Given the description of an element on the screen output the (x, y) to click on. 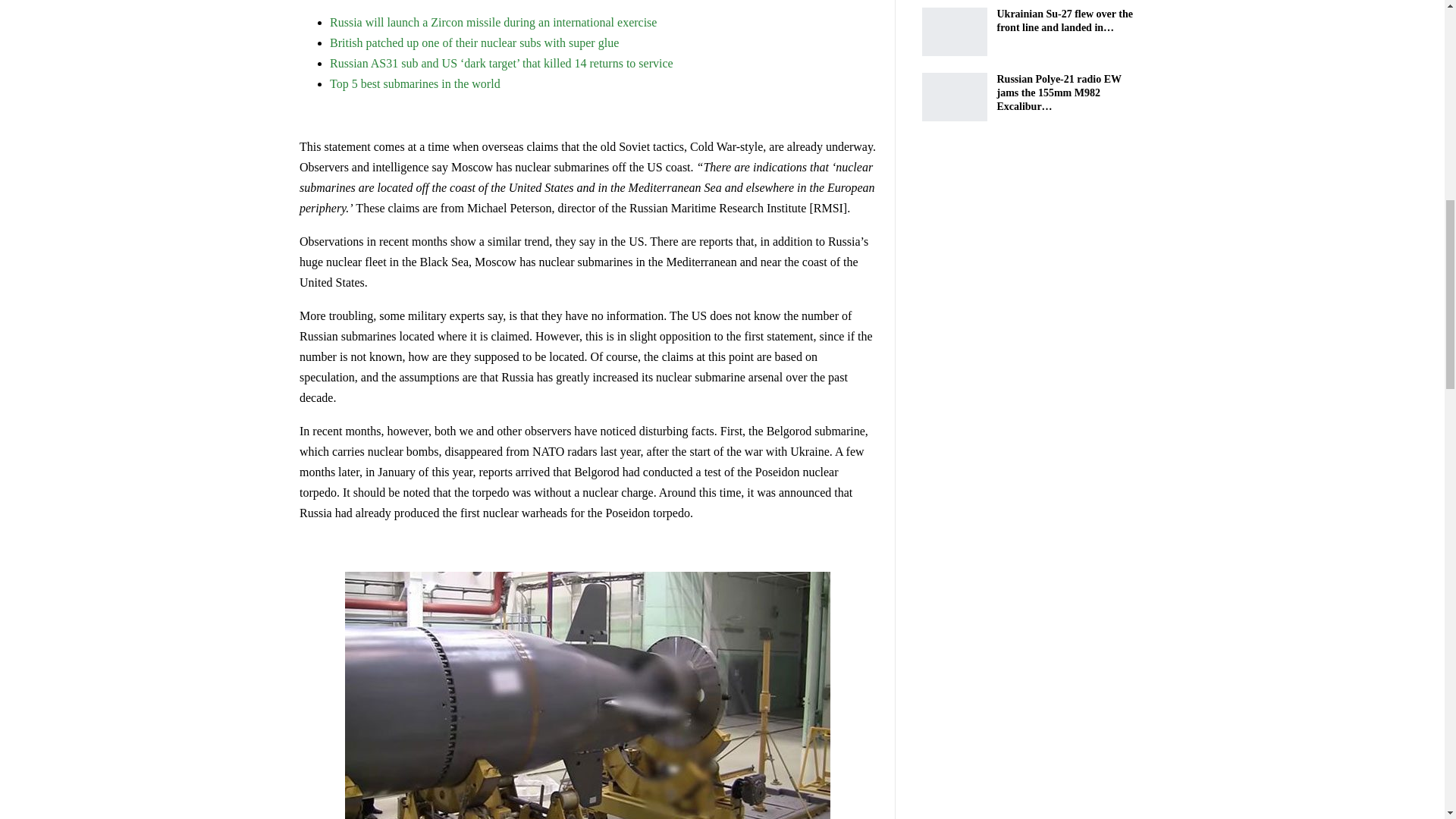
Top 5 best submarines in the world (415, 83)
British patched up one of their nuclear subs with super glue (474, 42)
